Given the description of an element on the screen output the (x, y) to click on. 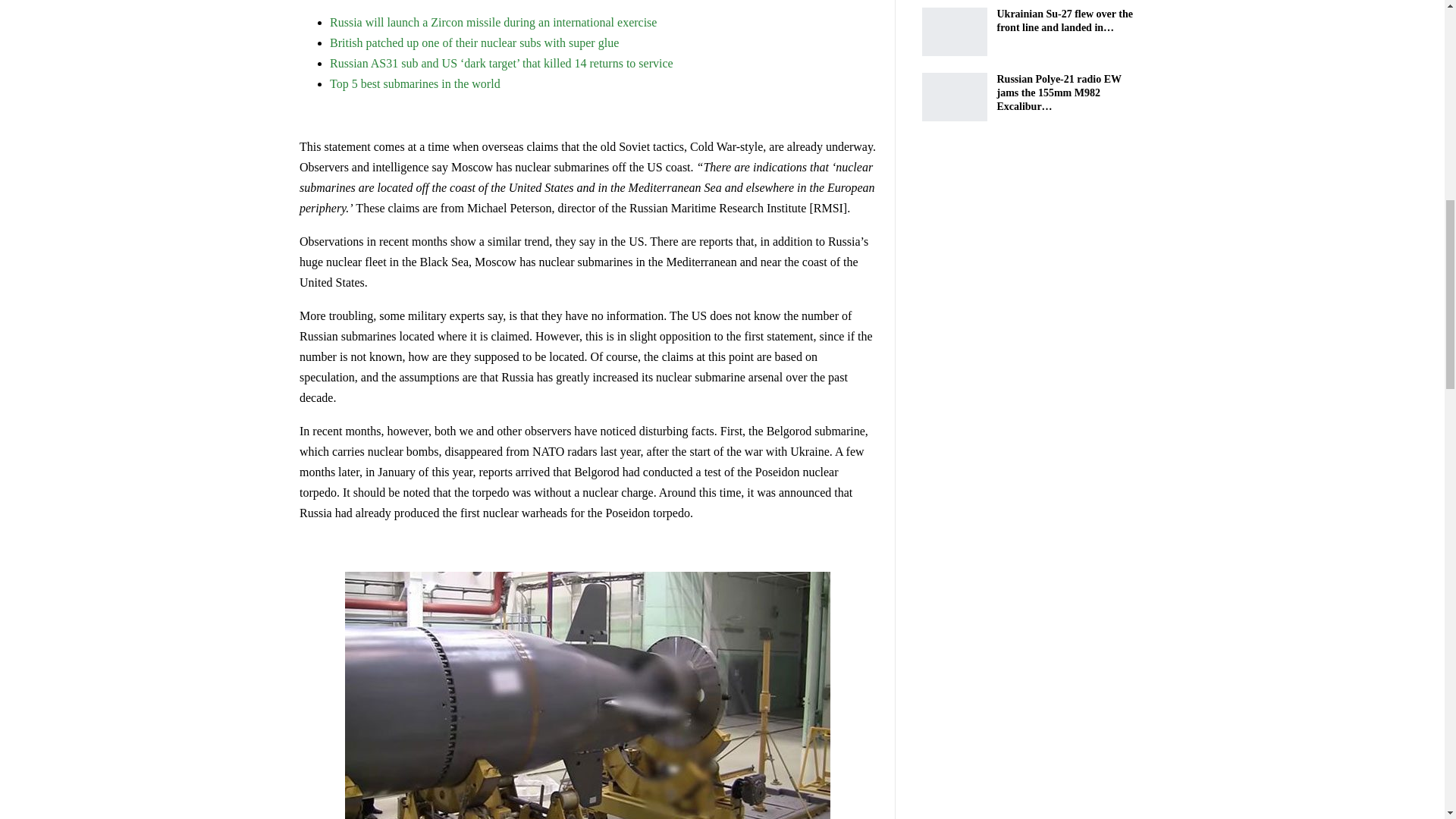
Top 5 best submarines in the world (415, 83)
British patched up one of their nuclear subs with super glue (474, 42)
